Given the description of an element on the screen output the (x, y) to click on. 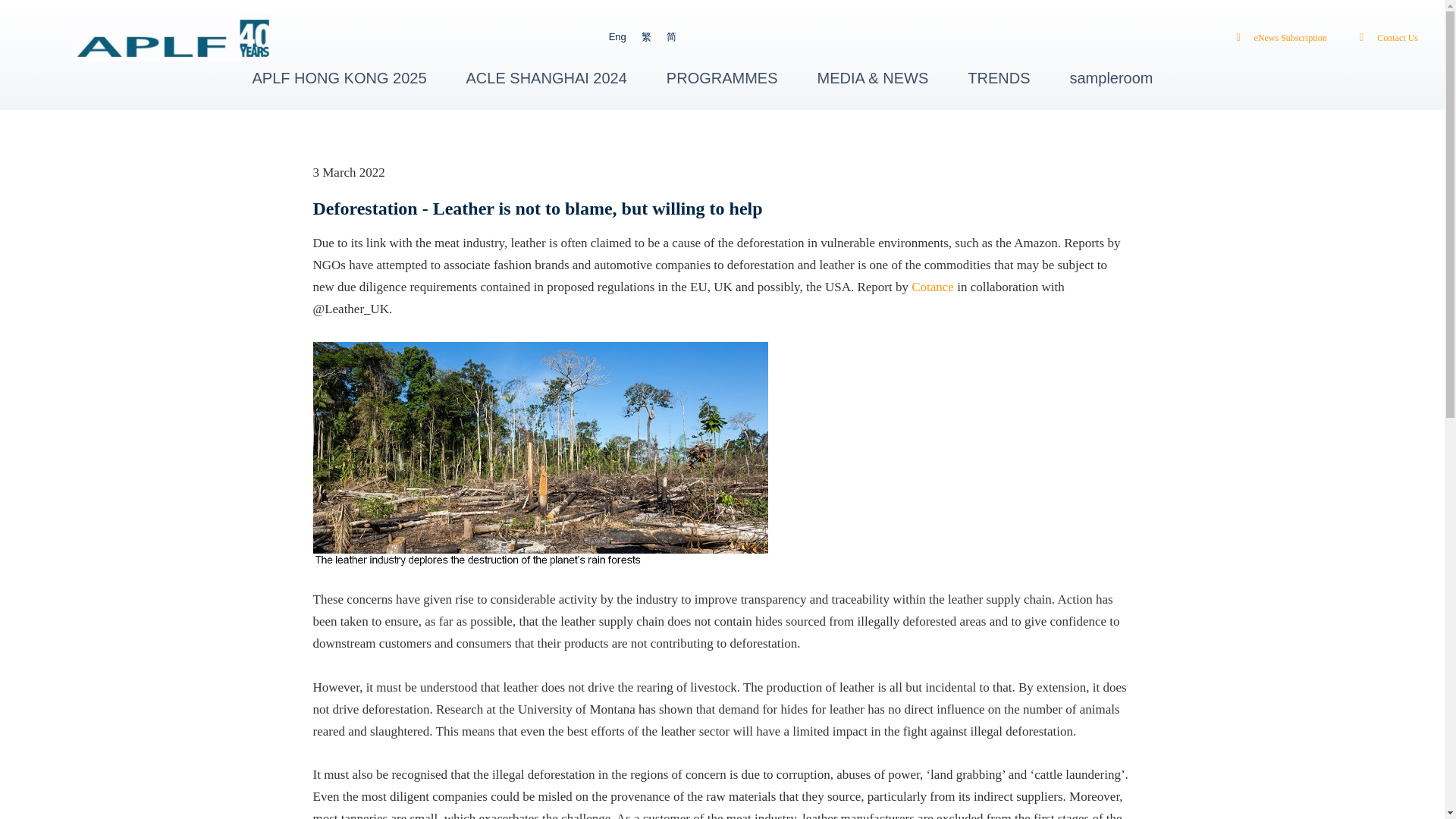
APLF HONG KONG 2025 (338, 77)
Contact Us (1384, 37)
eNews Subscription (1276, 37)
Eng (617, 36)
